Given the description of an element on the screen output the (x, y) to click on. 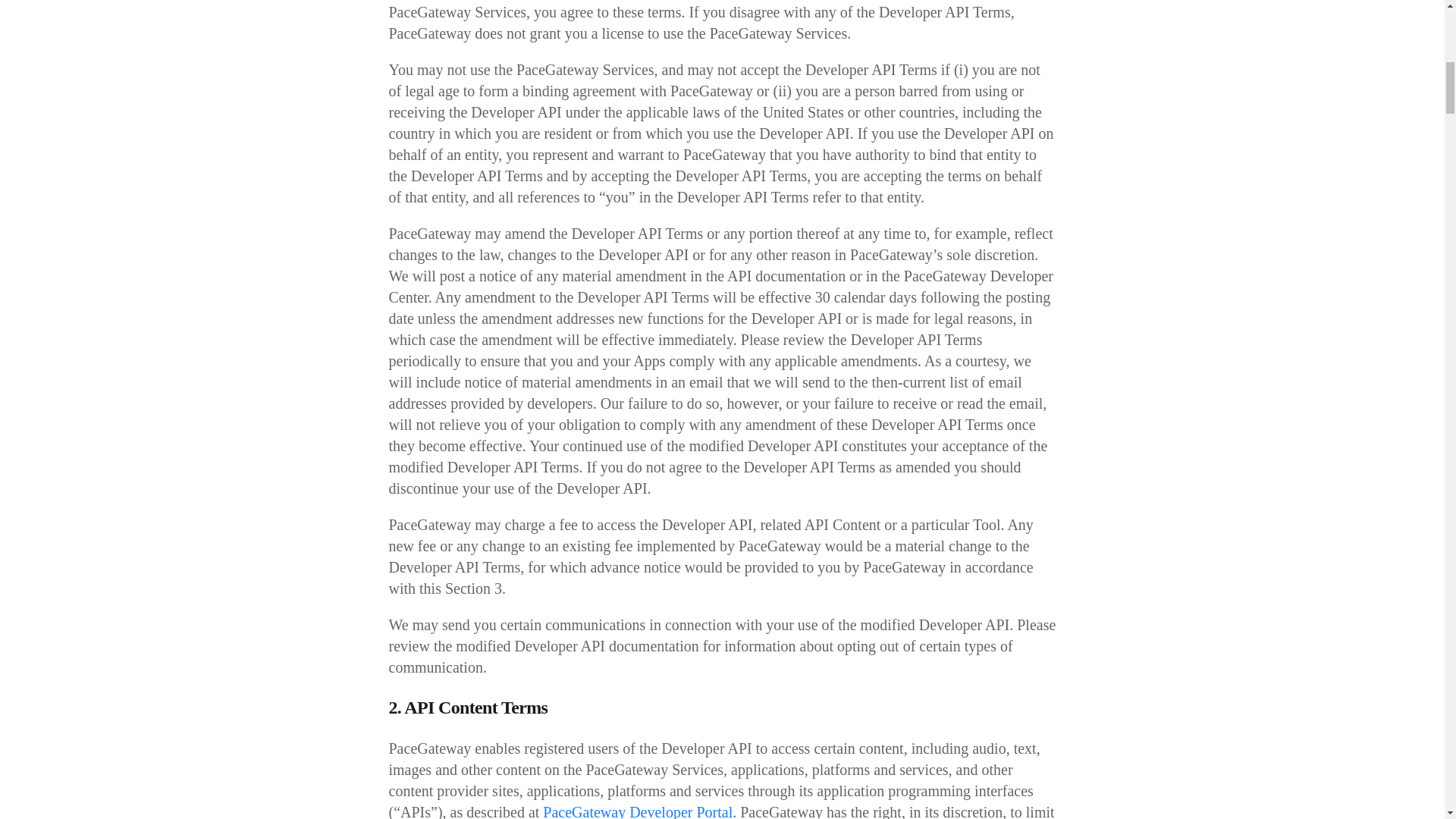
PaceGateway Developer Portal (637, 811)
